Given the description of an element on the screen output the (x, y) to click on. 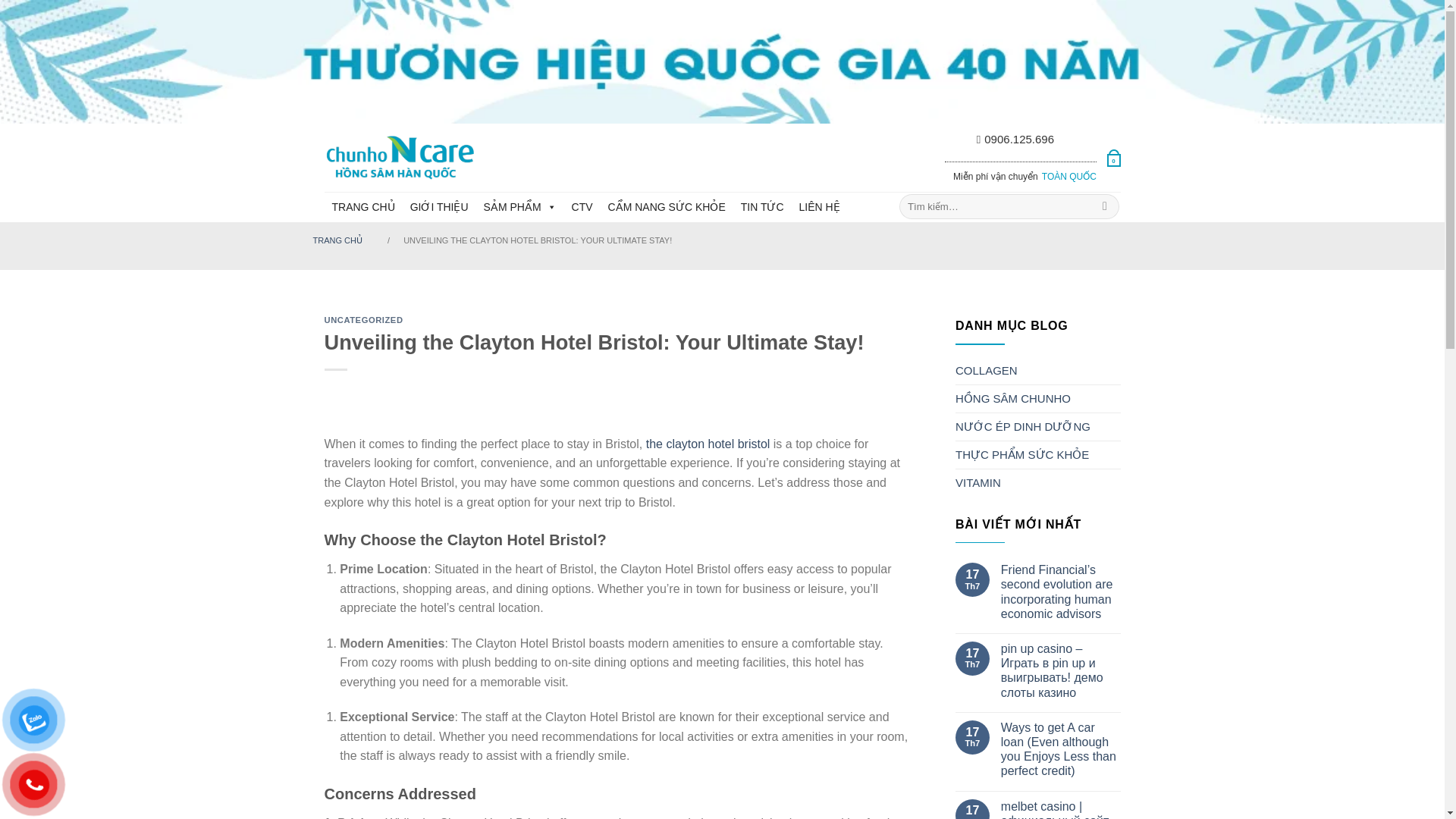
Chunho Ncare Korea (400, 156)
UNCATEGORIZED (363, 319)
the clayton hotel bristol (708, 443)
0906.125.696 (1015, 138)
CTV (581, 206)
